Given the description of an element on the screen output the (x, y) to click on. 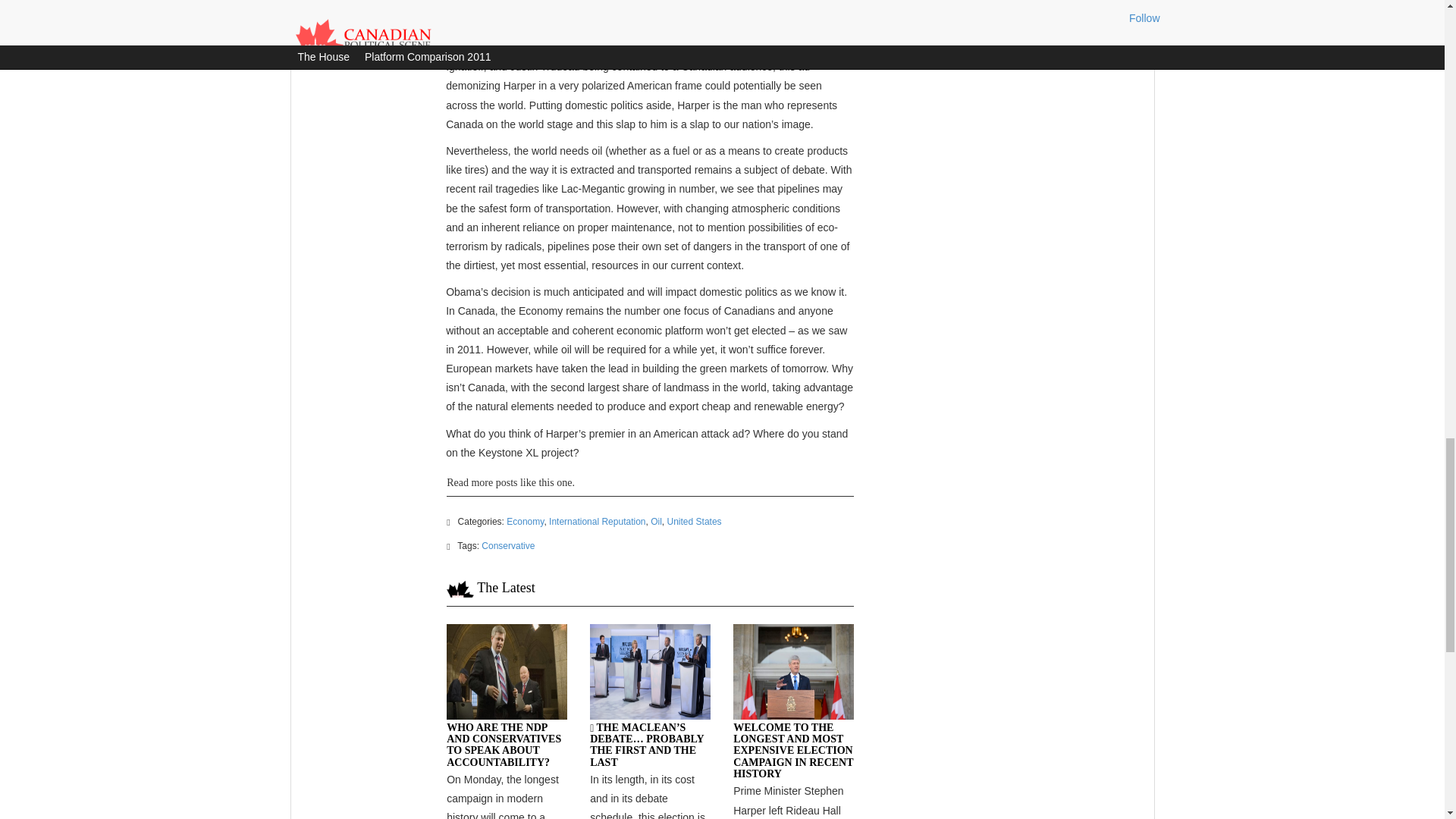
United States (694, 521)
The Latest (505, 587)
Oil (656, 521)
Conservative (507, 545)
International Reputation (596, 521)
Economy (524, 521)
